Given the description of an element on the screen output the (x, y) to click on. 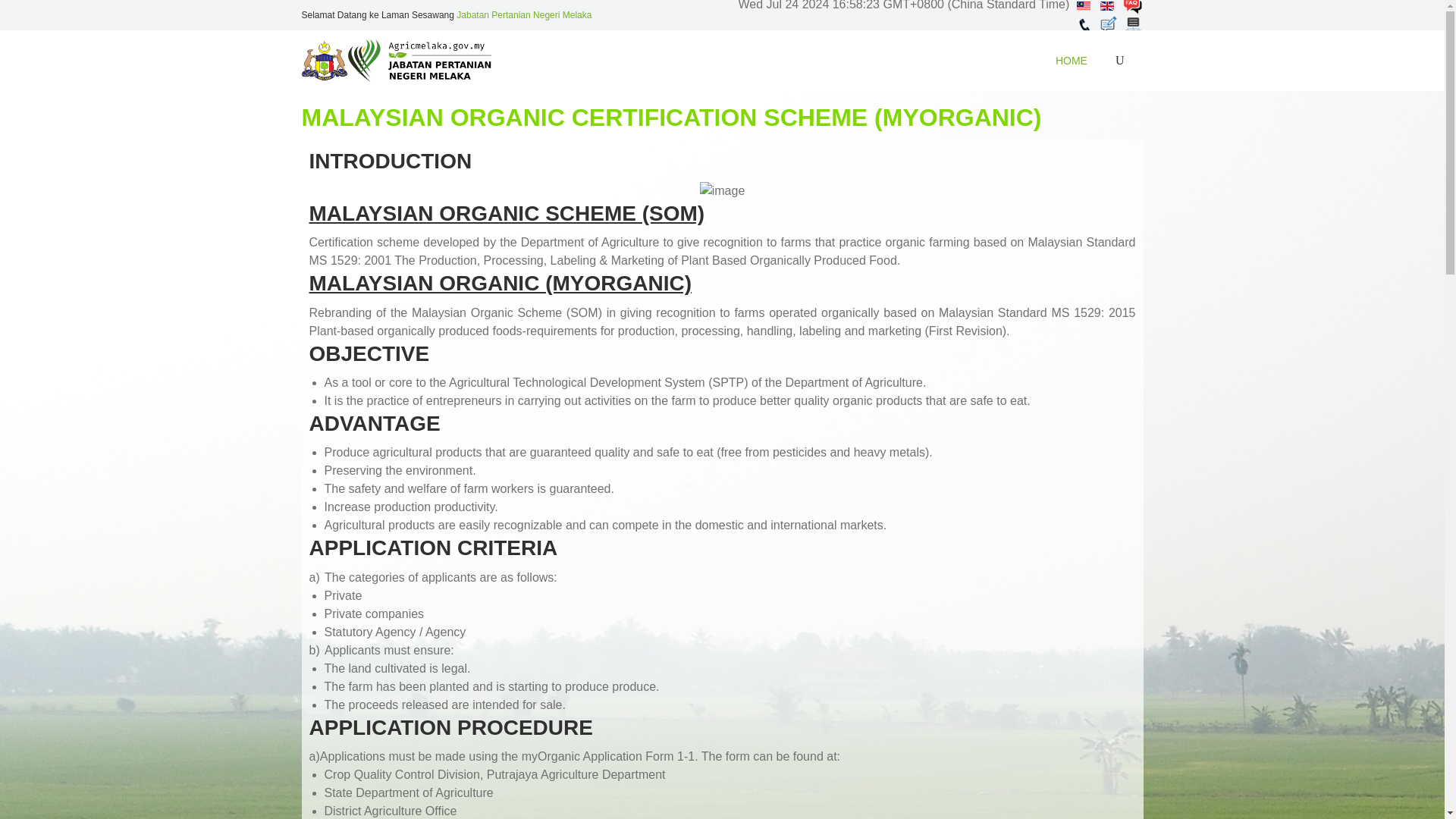
Soalan Lazim (1131, 5)
Peta Laman (1132, 24)
Aduan (1109, 24)
Bahasa Melayu  (1083, 5)
Hubungi Kami (1085, 24)
HOME (1071, 59)
